Given the description of an element on the screen output the (x, y) to click on. 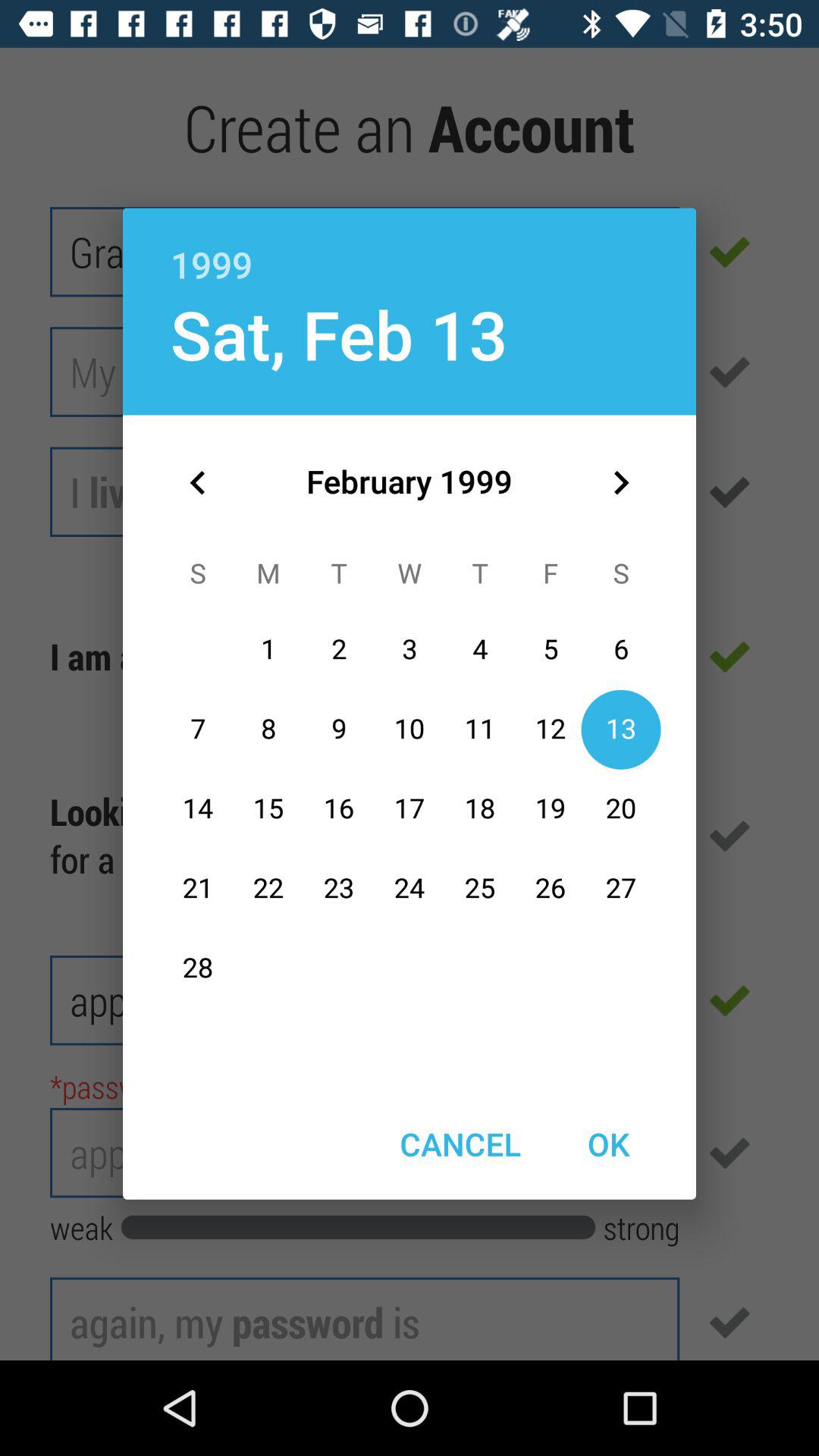
turn on item to the left of the ok item (459, 1143)
